Given the description of an element on the screen output the (x, y) to click on. 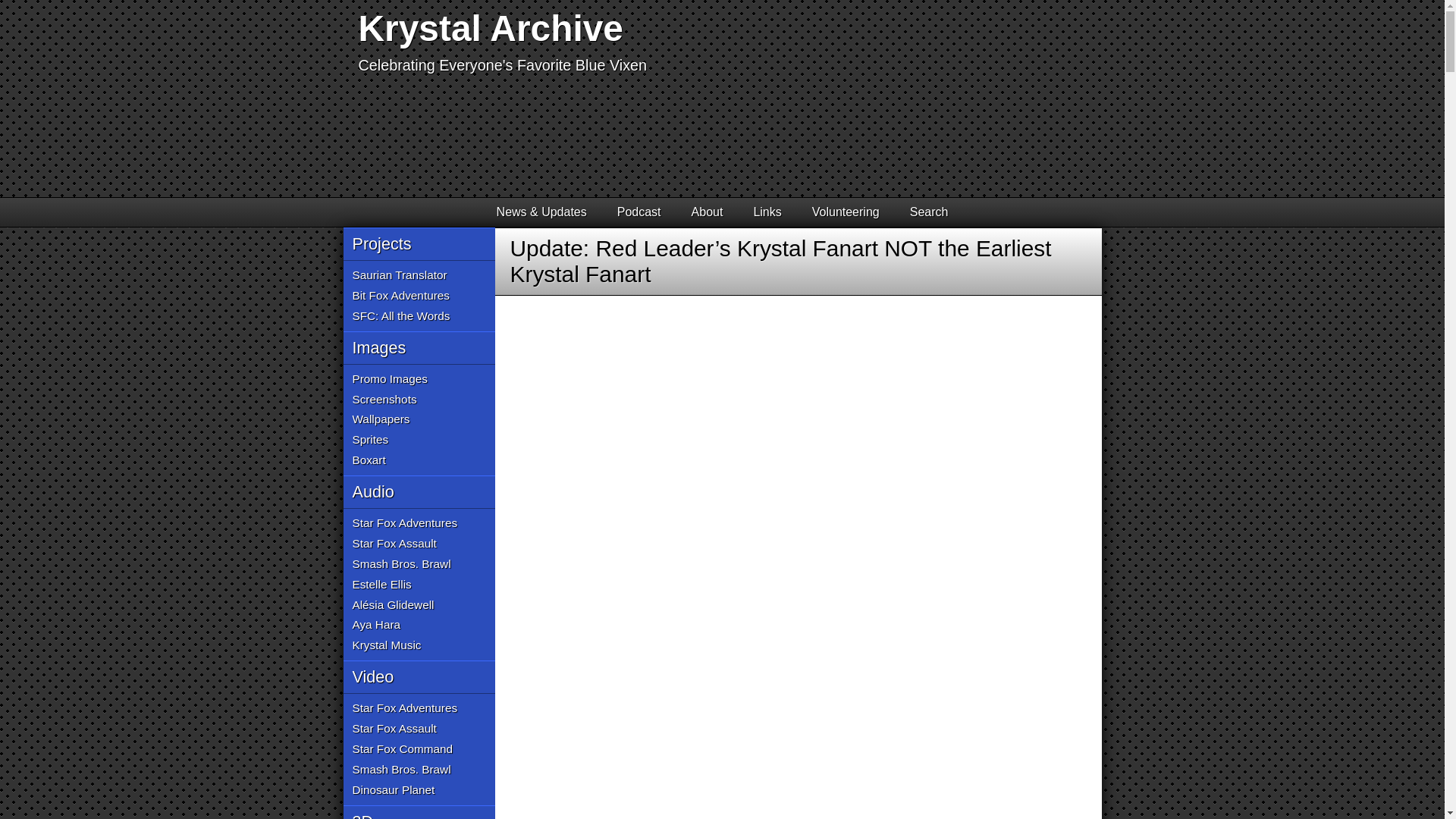
Star Fox Assault (394, 543)
Saurian Translator (399, 275)
SFC: All the Words (400, 316)
Smash Bros. Brawl (400, 769)
Krystal Music (386, 645)
Star Fox Adventures (404, 523)
Video (418, 676)
3D (418, 812)
Estelle Ellis (381, 584)
Podcast (639, 212)
